Given the description of an element on the screen output the (x, y) to click on. 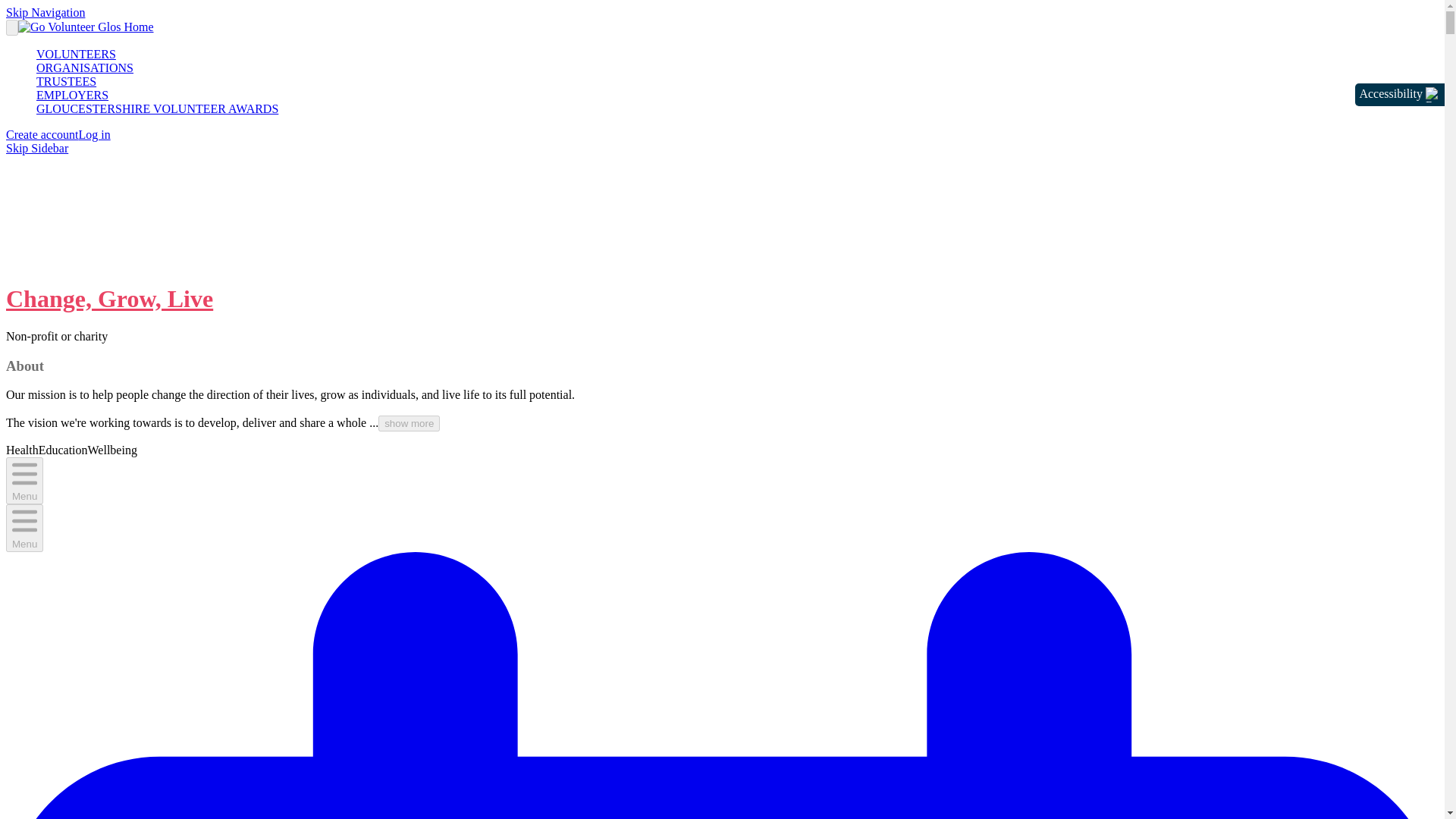
Create account (41, 133)
TRUSTEES (66, 81)
show more (408, 423)
VOLUNTEERS (76, 53)
Skip Sidebar (36, 147)
Change, Grow, Live (108, 298)
GLOUCESTERSHIRE VOLUNTEER AWARDS (157, 108)
Log in (94, 133)
Skip Navigation (44, 11)
EMPLOYERS (71, 94)
ORGANISATIONS (84, 67)
